Given the description of an element on the screen output the (x, y) to click on. 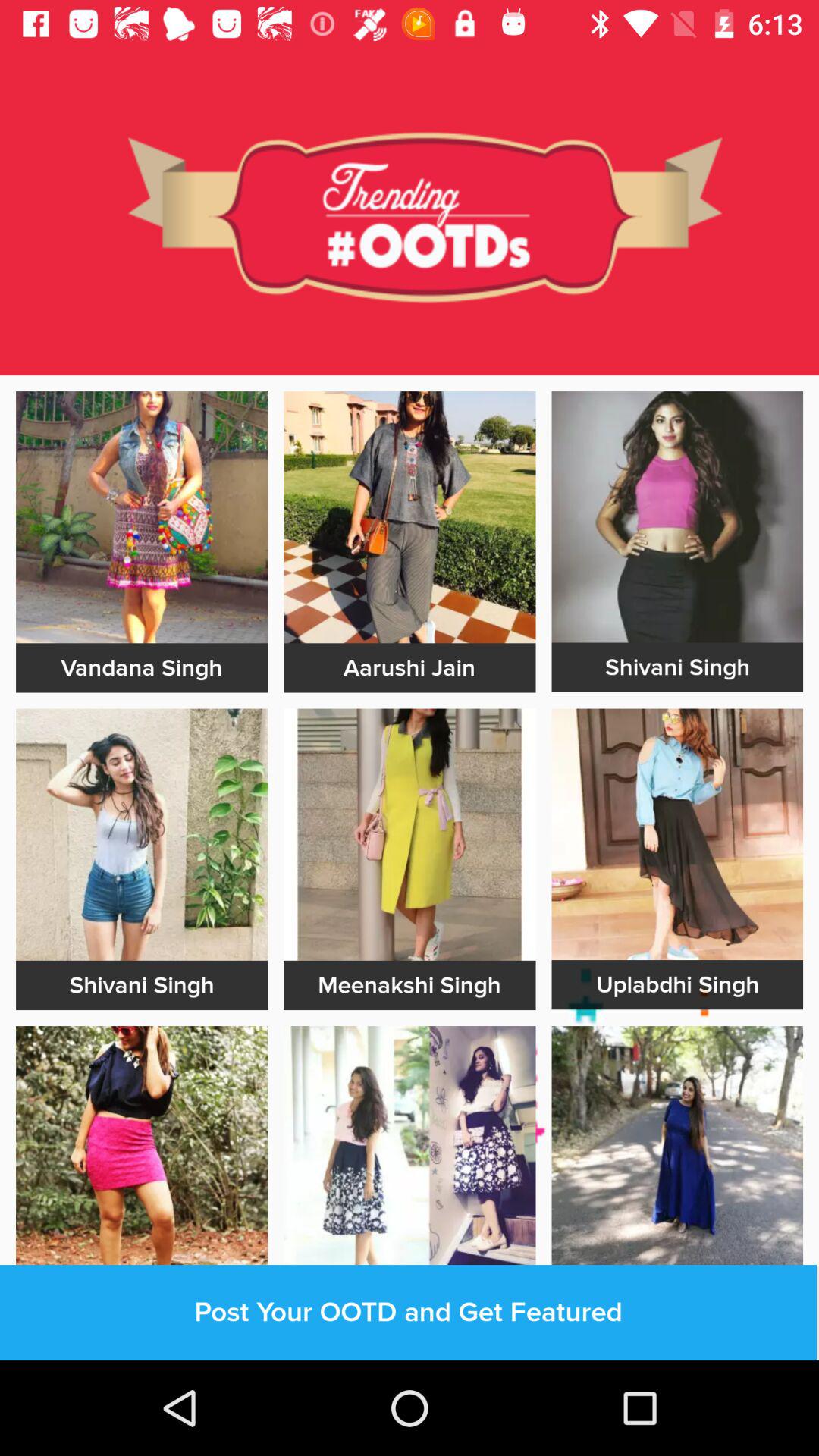
advertisement link (409, 1151)
